Given the description of an element on the screen output the (x, y) to click on. 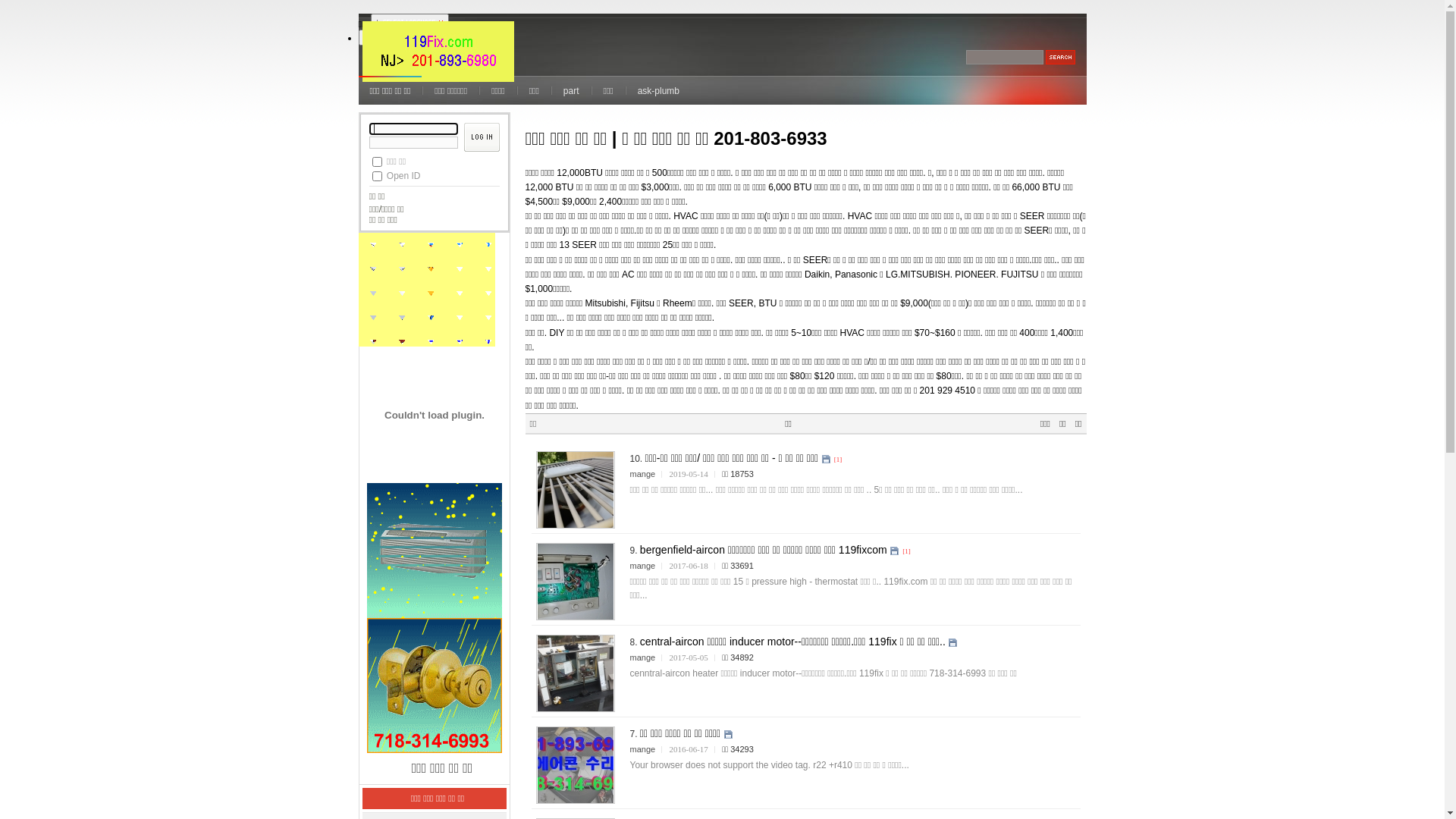
mange Element type: text (642, 748)
user id Element type: hover (412, 128)
keyword Element type: hover (1004, 57)
mange Element type: text (642, 565)
file Element type: hover (952, 642)
[1] Element type: text (906, 550)
Y Element type: text (376, 176)
part Element type: text (571, 89)
password Element type: hover (412, 142)
file Element type: hover (894, 550)
mange Element type: text (642, 473)
ask-plumb Element type: text (658, 89)
[1] Element type: text (838, 458)
English Element type: text (380, 37)
mange Element type: text (642, 657)
Y Element type: text (376, 161)
file Element type: hover (826, 459)
file Element type: hover (728, 734)
